Given the description of an element on the screen output the (x, y) to click on. 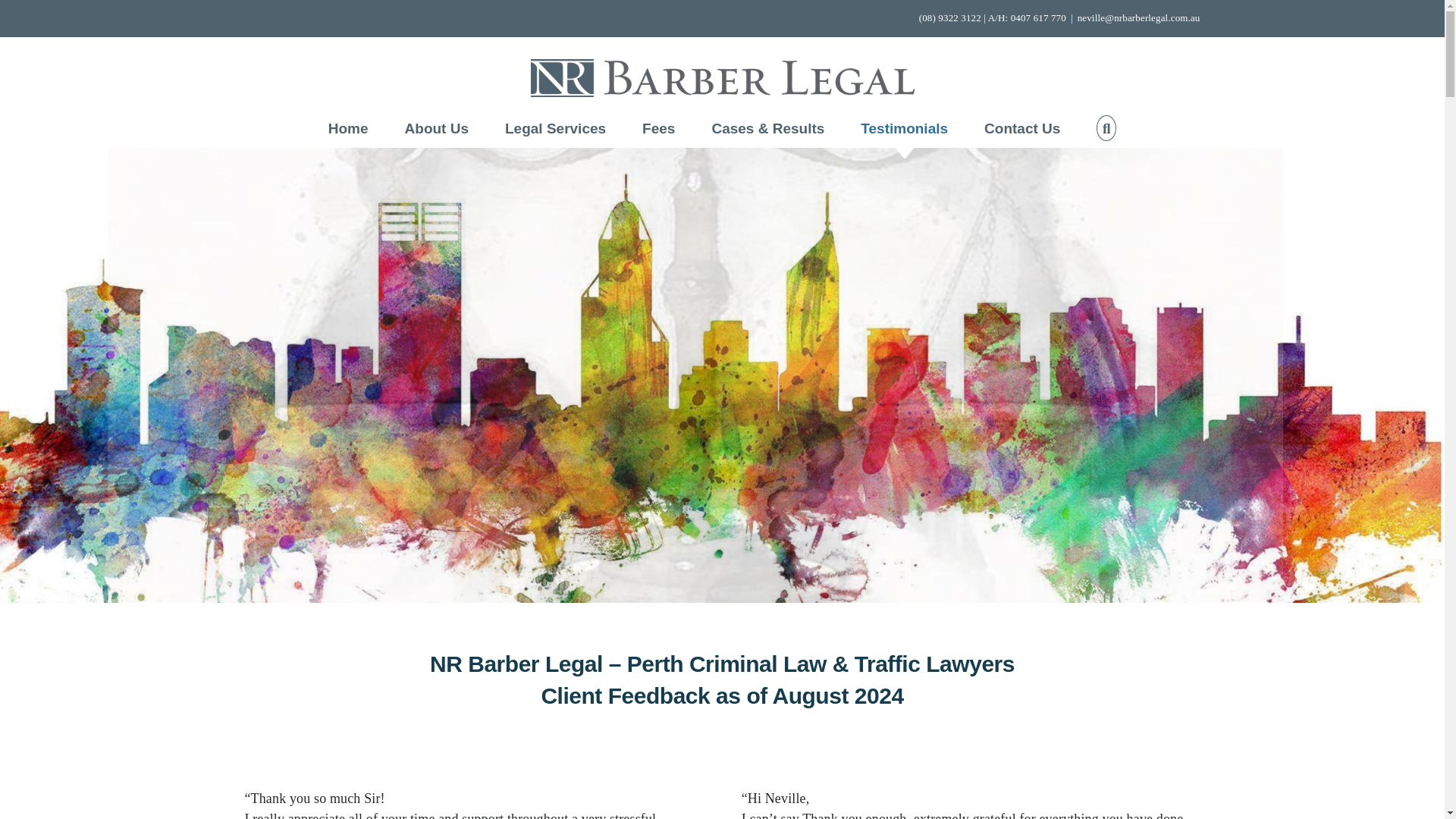
Legal Services (555, 127)
Contact Us (1021, 127)
Home (348, 127)
Testimonials (903, 127)
About Us (436, 127)
